Given the description of an element on the screen output the (x, y) to click on. 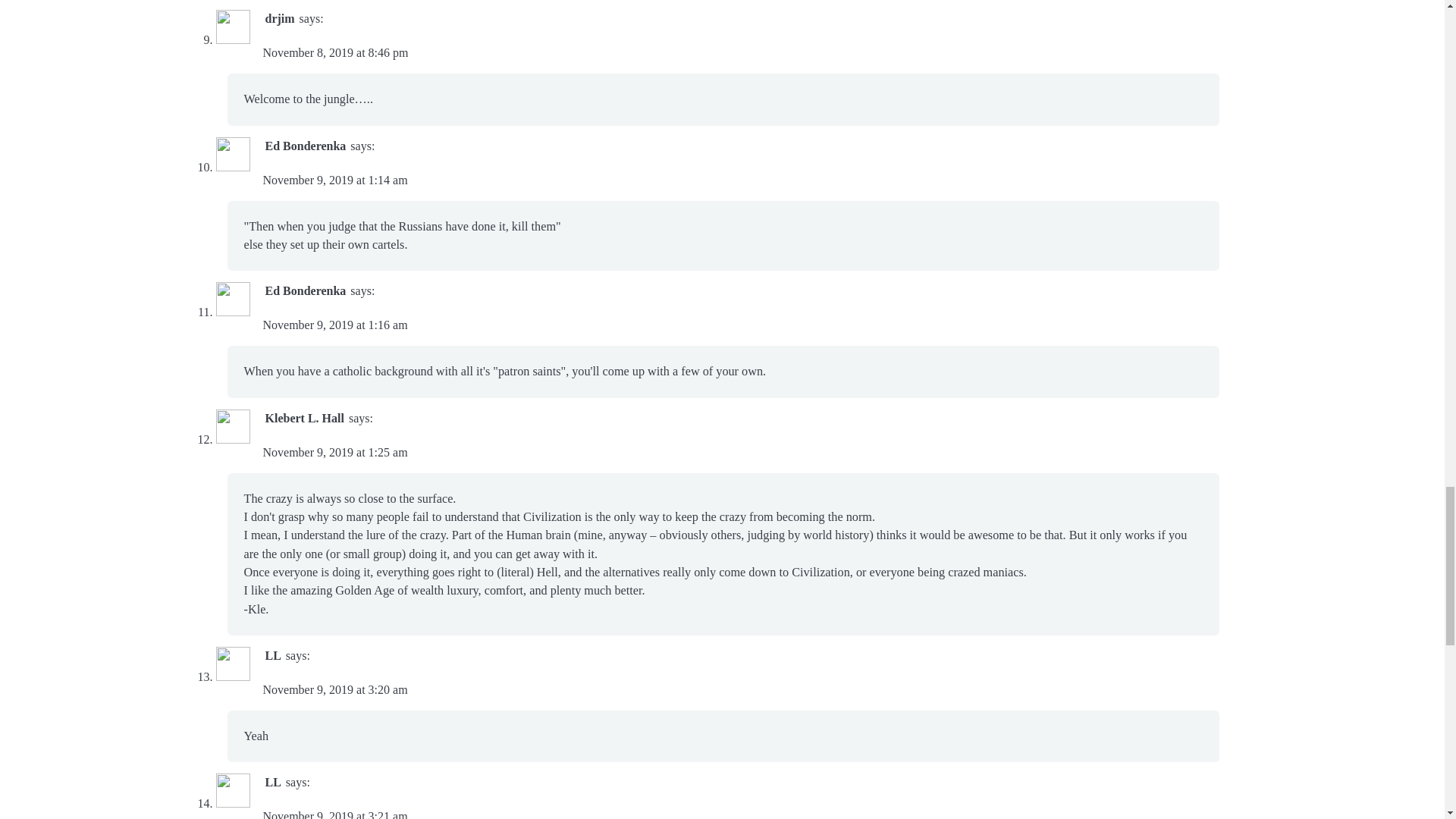
November 9, 2019 at 3:20 am (334, 689)
November 9, 2019 at 1:16 am (334, 324)
November 9, 2019 at 3:21 am (334, 814)
November 9, 2019 at 1:25 am (334, 451)
November 9, 2019 at 1:14 am (334, 179)
November 8, 2019 at 8:46 pm (334, 51)
